Given the description of an element on the screen output the (x, y) to click on. 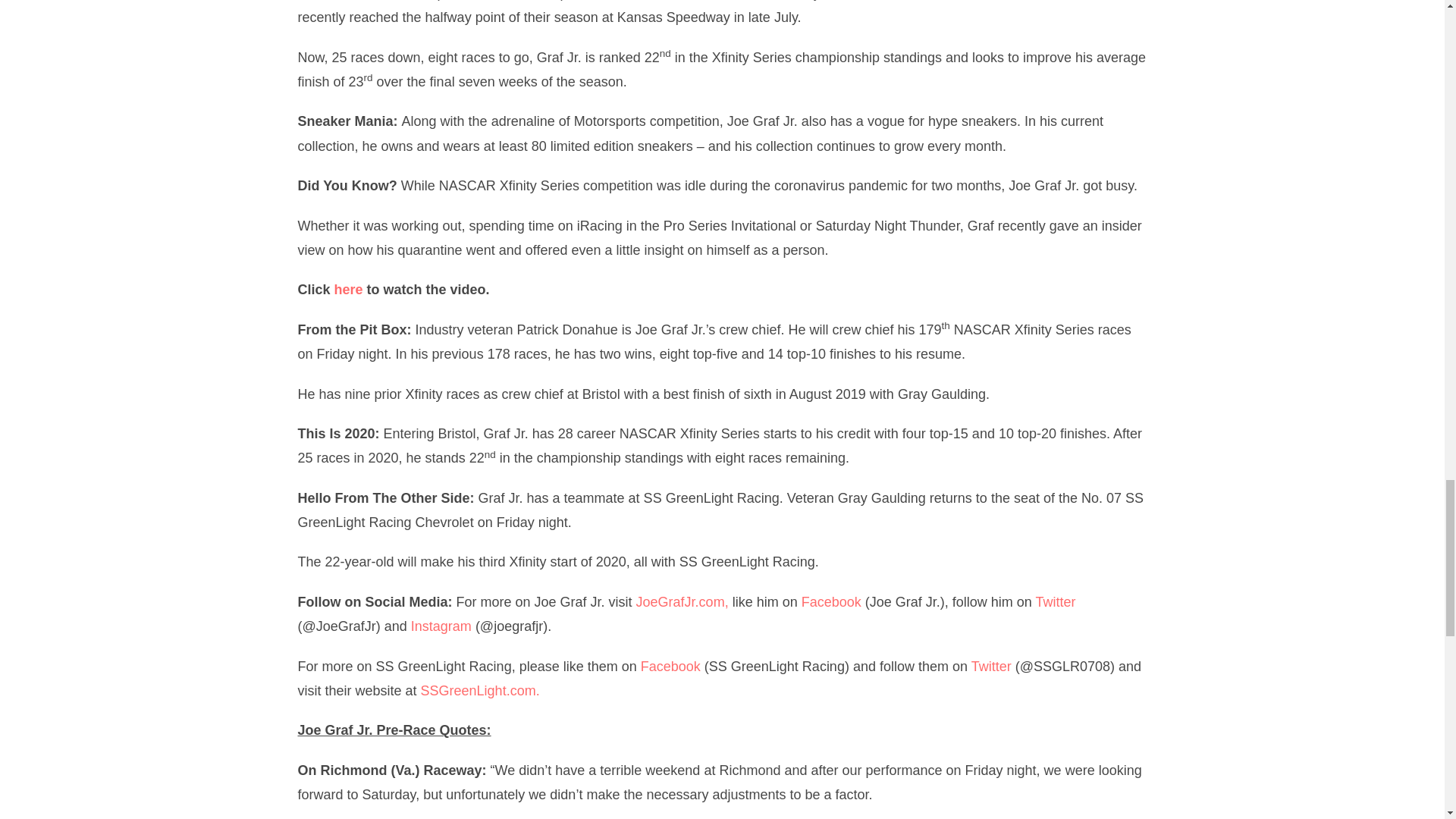
SSGreenLight.com. (480, 690)
Facebook (831, 601)
Facebook (670, 666)
JoeGrafJr.com, (682, 601)
here (348, 289)
Twitter (1055, 601)
Instagram (440, 626)
Twitter (991, 666)
